Given the description of an element on the screen output the (x, y) to click on. 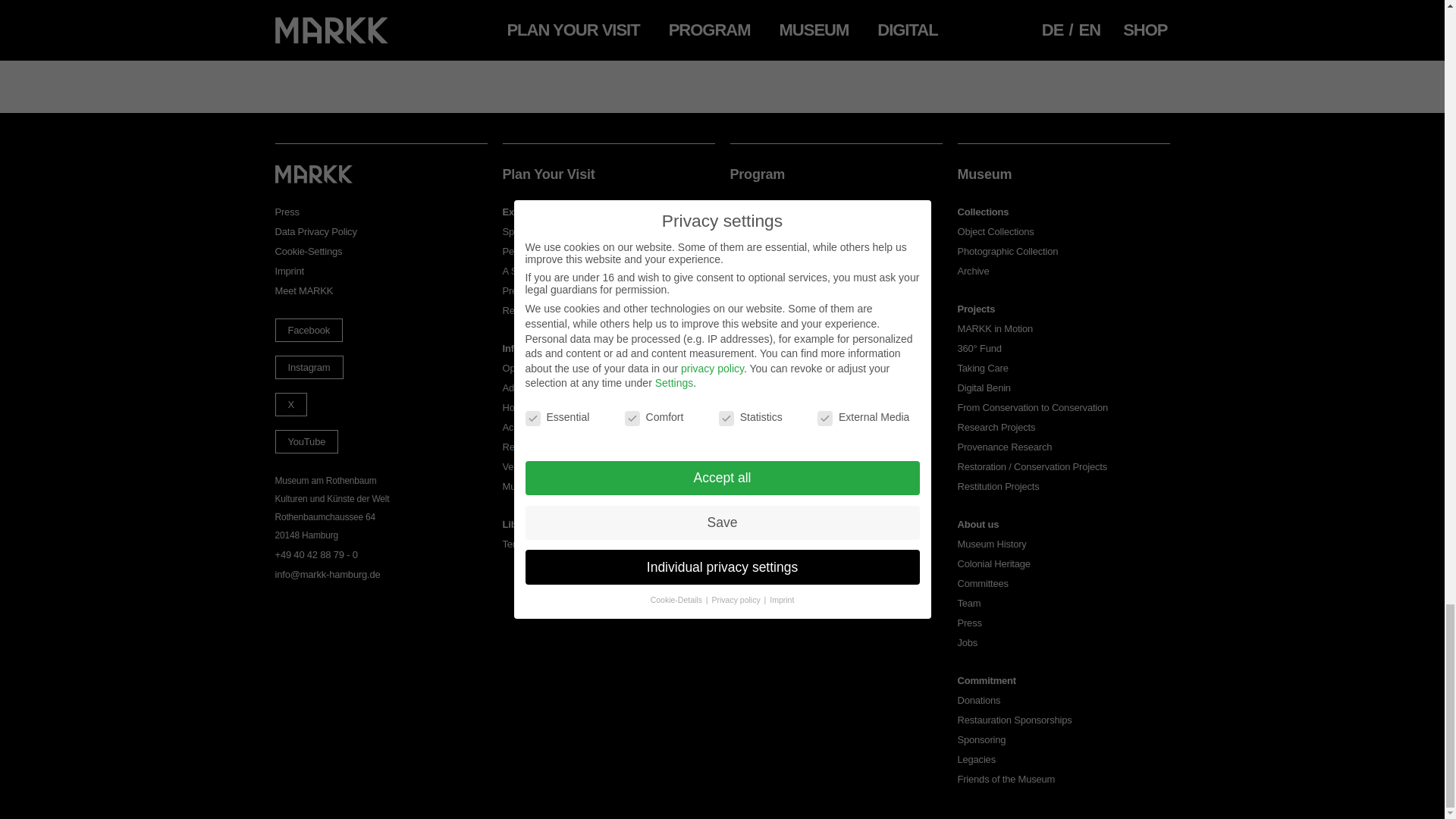
MARKK on youtube (306, 441)
MARKK on facebook (308, 330)
Home (313, 174)
MARKK on instagram (308, 367)
MARKK on x (290, 404)
